Given the description of an element on the screen output the (x, y) to click on. 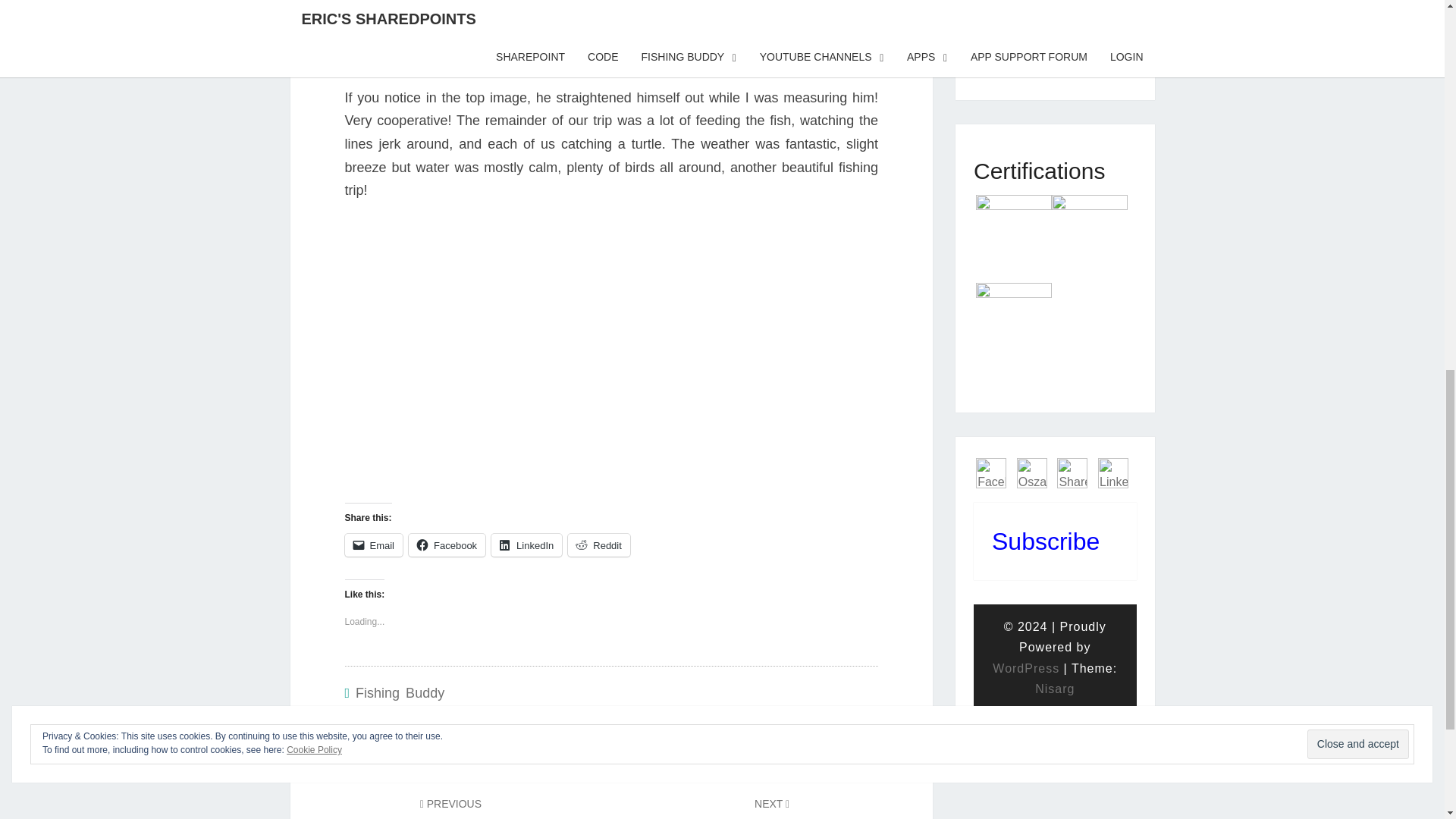
Reddit (598, 544)
Fishing Buddy (399, 693)
Click to share on Facebook (446, 544)
SharePoint Eric (450, 807)
Click to share on Reddit (1072, 472)
Nisarg (598, 544)
WordPress (1054, 688)
LinkedIn (772, 807)
Facebook (1025, 667)
LinkedIn (527, 544)
Click to share on LinkedIn (446, 544)
Email (1112, 472)
Oszak Fishing (527, 544)
